Given the description of an element on the screen output the (x, y) to click on. 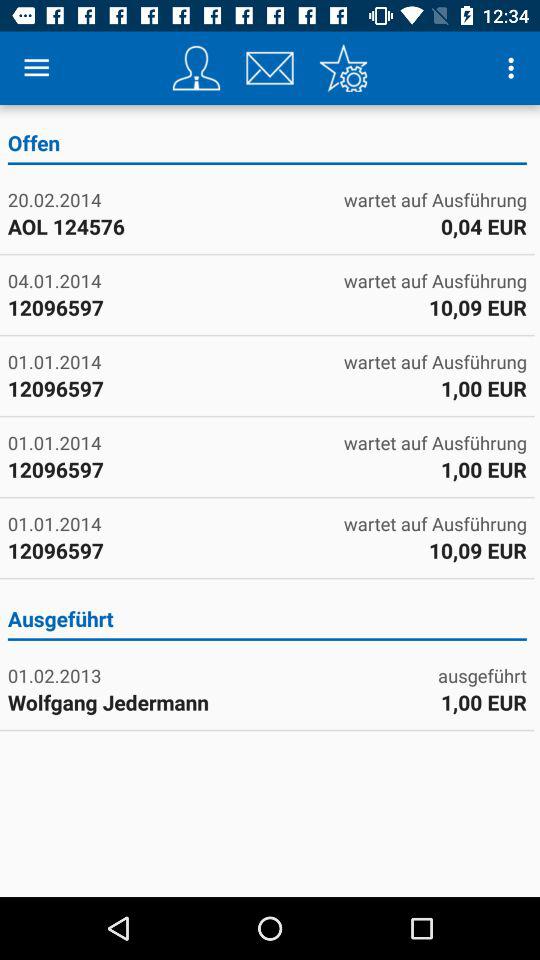
tap the icon next to 01.02.2013 icon (481, 675)
